Given the description of an element on the screen output the (x, y) to click on. 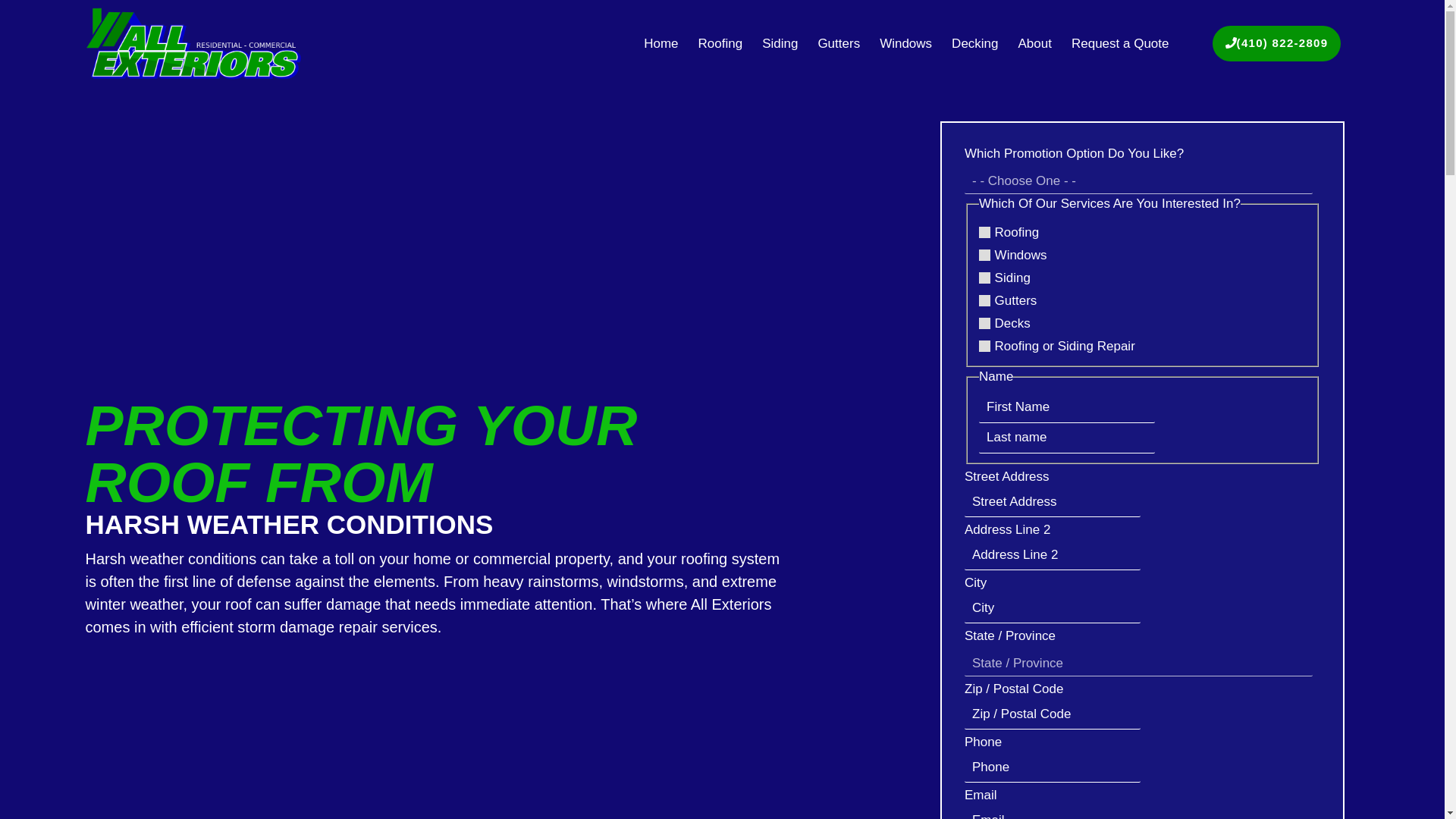
Decking (974, 43)
Gutters (838, 43)
Windows (984, 255)
Roofing (720, 43)
Siding (984, 277)
Request a Quote (1120, 43)
Siding (780, 43)
Roofing (984, 232)
Gutters (984, 300)
Home (660, 43)
